Given the description of an element on the screen output the (x, y) to click on. 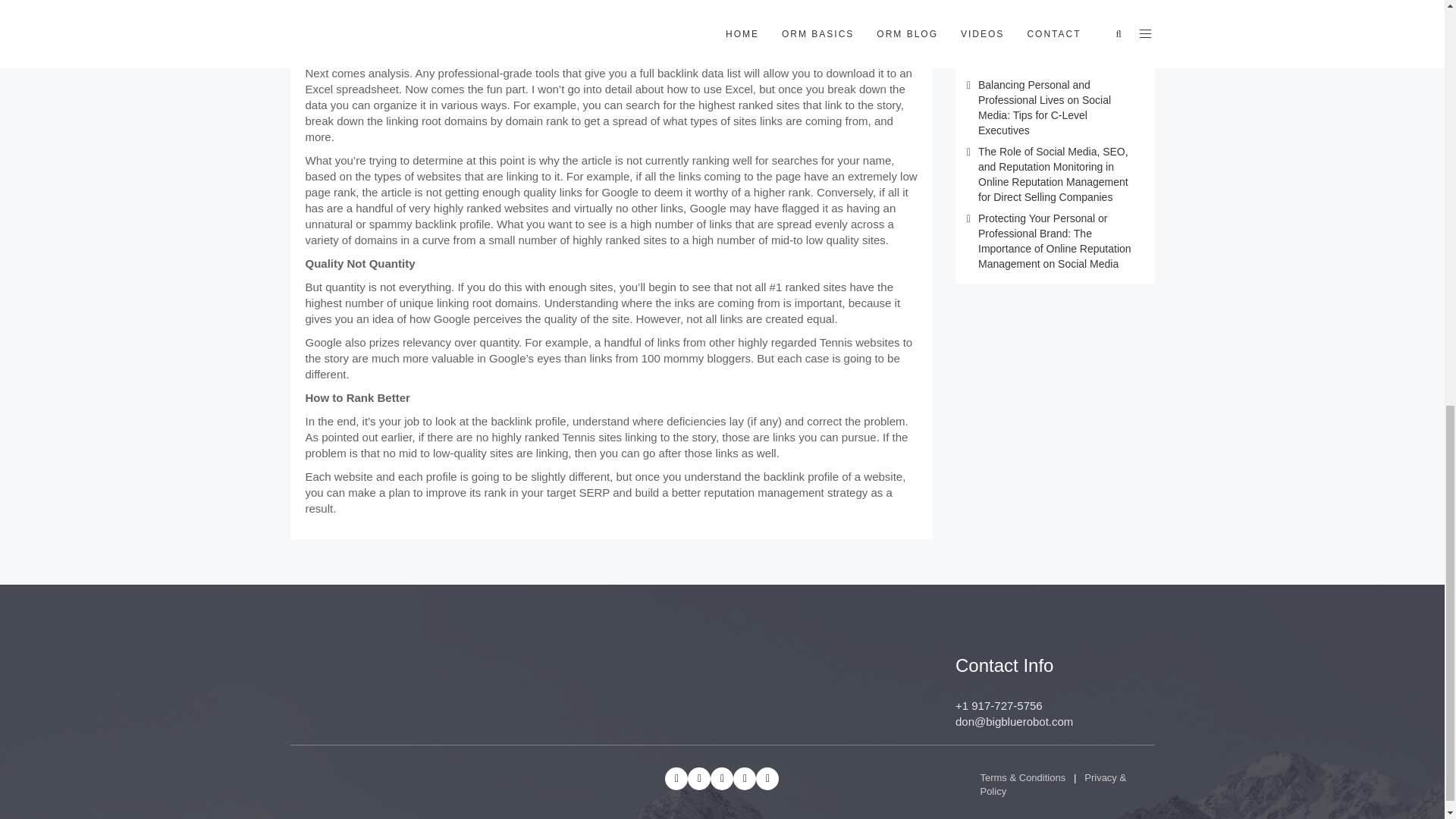
Protecting Your Reputation Online: Strategies for Doctors (1048, 9)
